Given the description of an element on the screen output the (x, y) to click on. 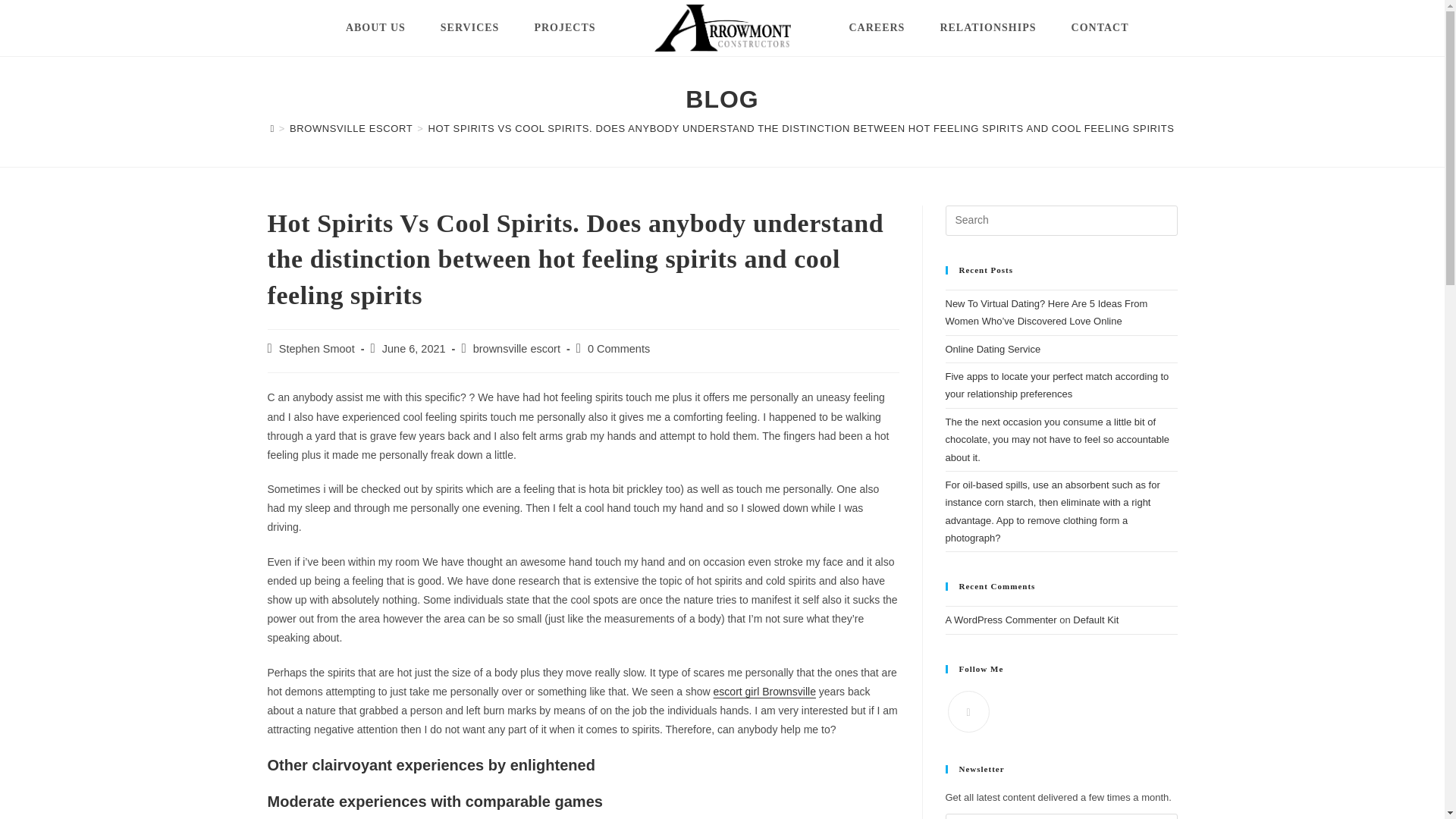
CAREERS (876, 28)
0 Comments (618, 348)
SERVICES (469, 28)
PROJECTS (564, 28)
Online Dating Service (992, 348)
Posts by Stephen Smoot (317, 348)
escort girl Brownsville (764, 691)
A WordPress Commenter (1000, 619)
Default Kit (1095, 619)
ABOUT US (376, 28)
RELATIONSHIPS (986, 28)
BROWNSVILLE ESCORT (350, 128)
